Given the description of an element on the screen output the (x, y) to click on. 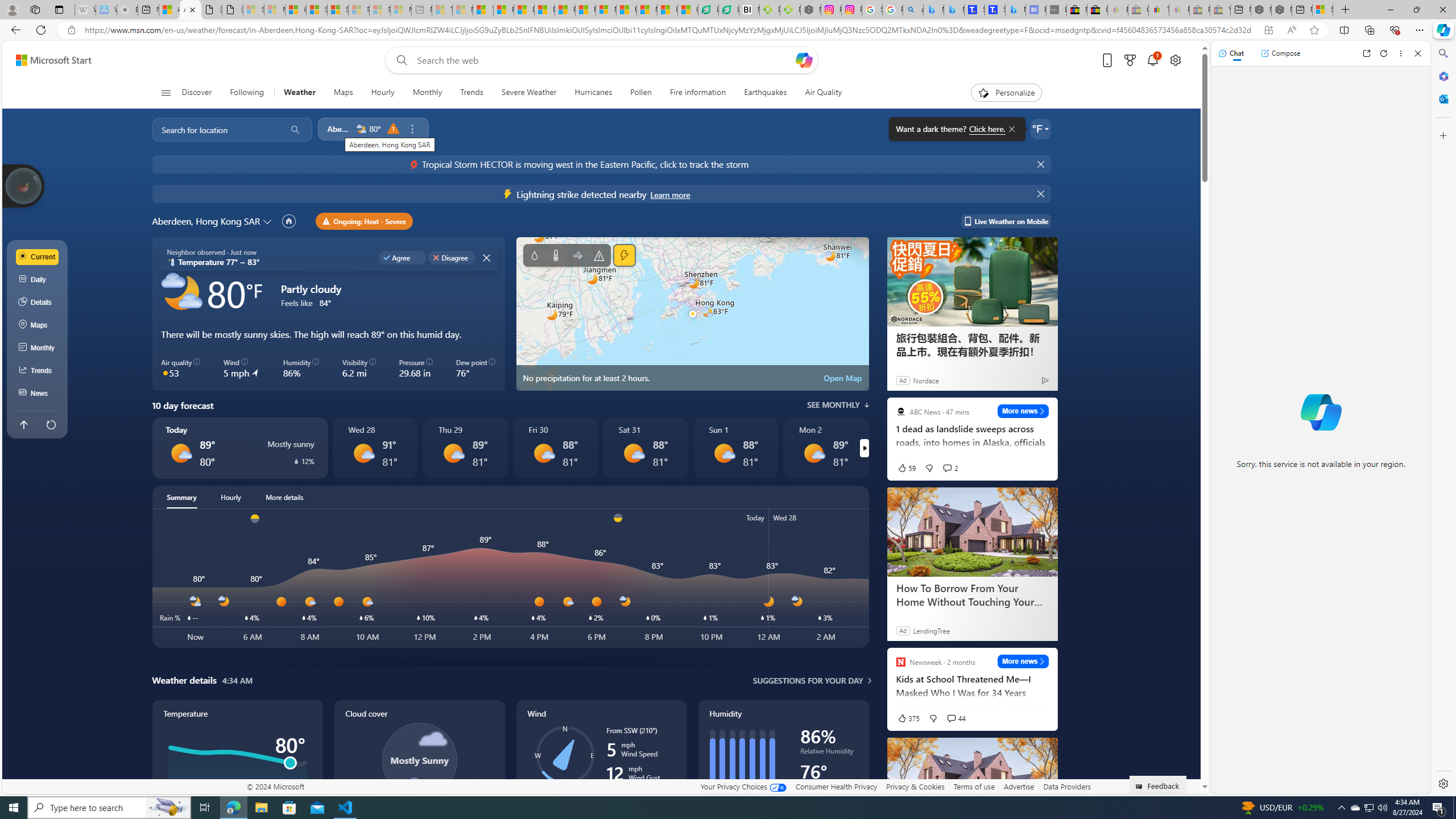
Terms of use (973, 785)
Partly cloudy (181, 292)
Nordace (925, 379)
Privacy & Cookies (915, 785)
Descarga Driver Updater (789, 9)
Hourly (382, 92)
Details (37, 302)
Skip to footer (46, 59)
Open navigation menu (164, 92)
Outlook (1442, 98)
